Given the description of an element on the screen output the (x, y) to click on. 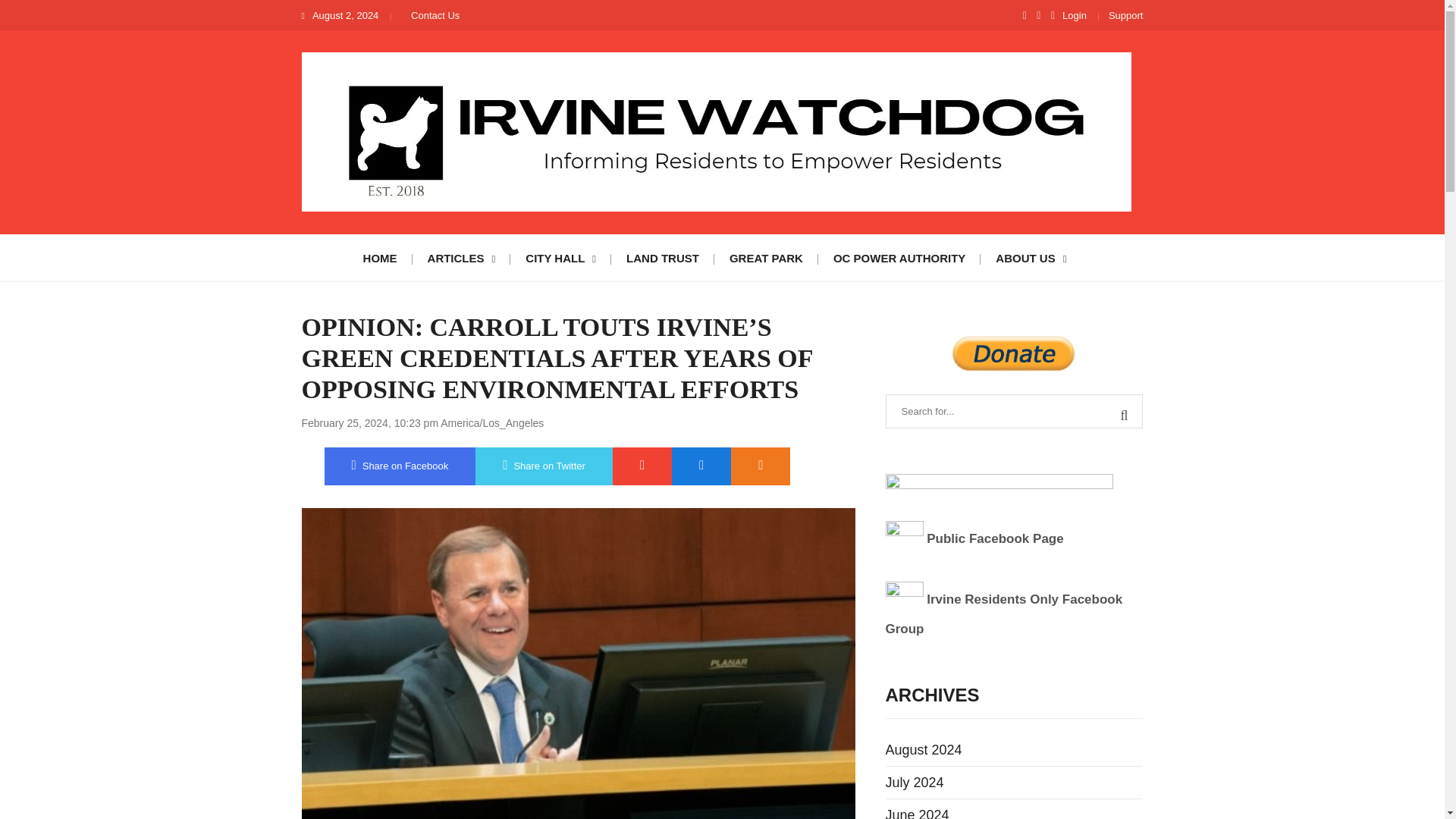
ARTICLES (461, 256)
Login (1074, 15)
ARTICLES (461, 256)
GREAT PARK (766, 256)
Support (1125, 15)
OC POWER AUTHORITY (898, 256)
Contact Us (435, 15)
Support (1125, 15)
CITY HALL (561, 256)
Share on Facebook (400, 466)
